Given the description of an element on the screen output the (x, y) to click on. 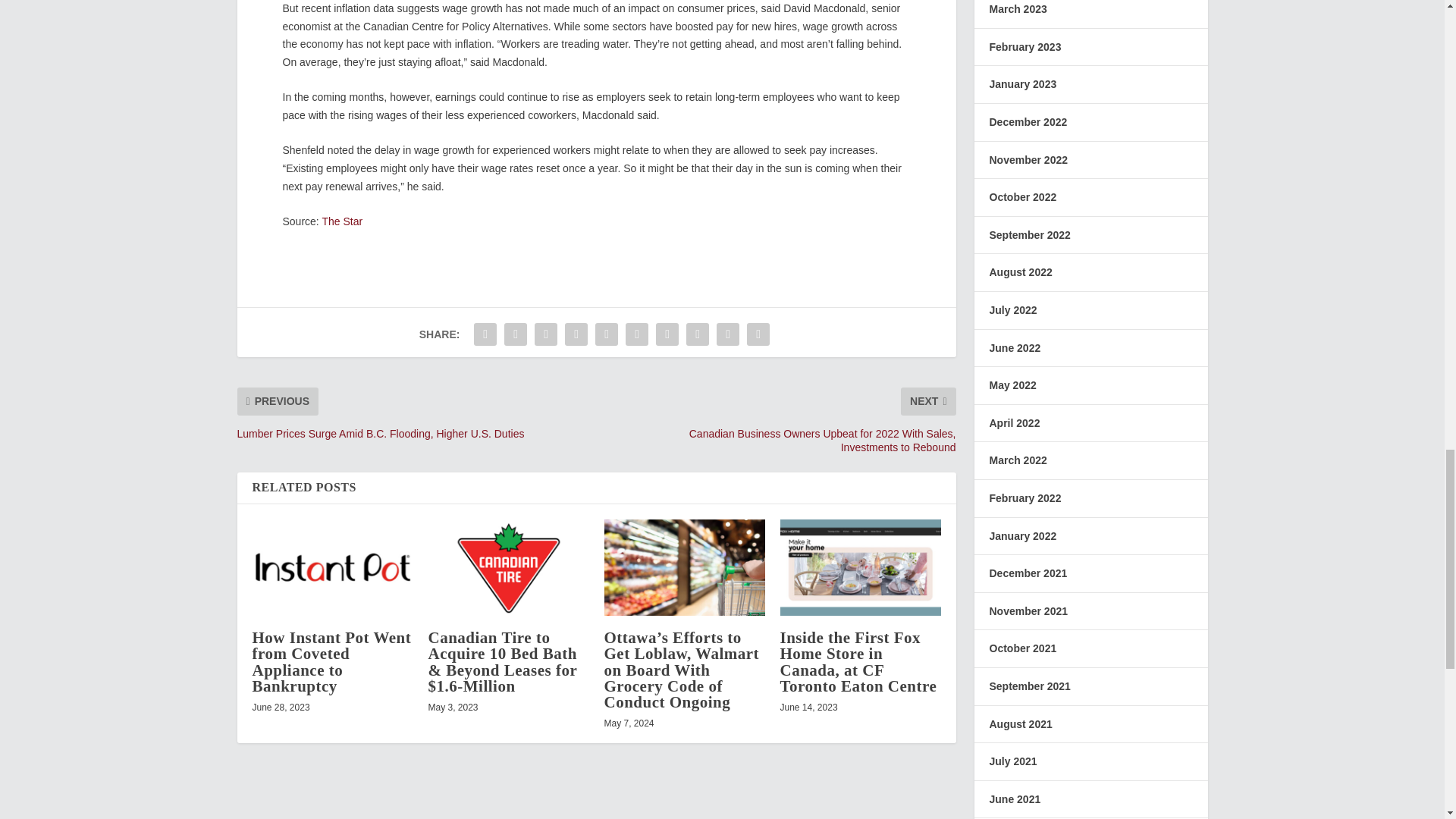
The Star (341, 221)
How Instant Pot Went from Coveted Appliance to Bankruptcy (330, 661)
How Instant Pot Went from Coveted Appliance to Bankruptcy (331, 567)
